Given the description of an element on the screen output the (x, y) to click on. 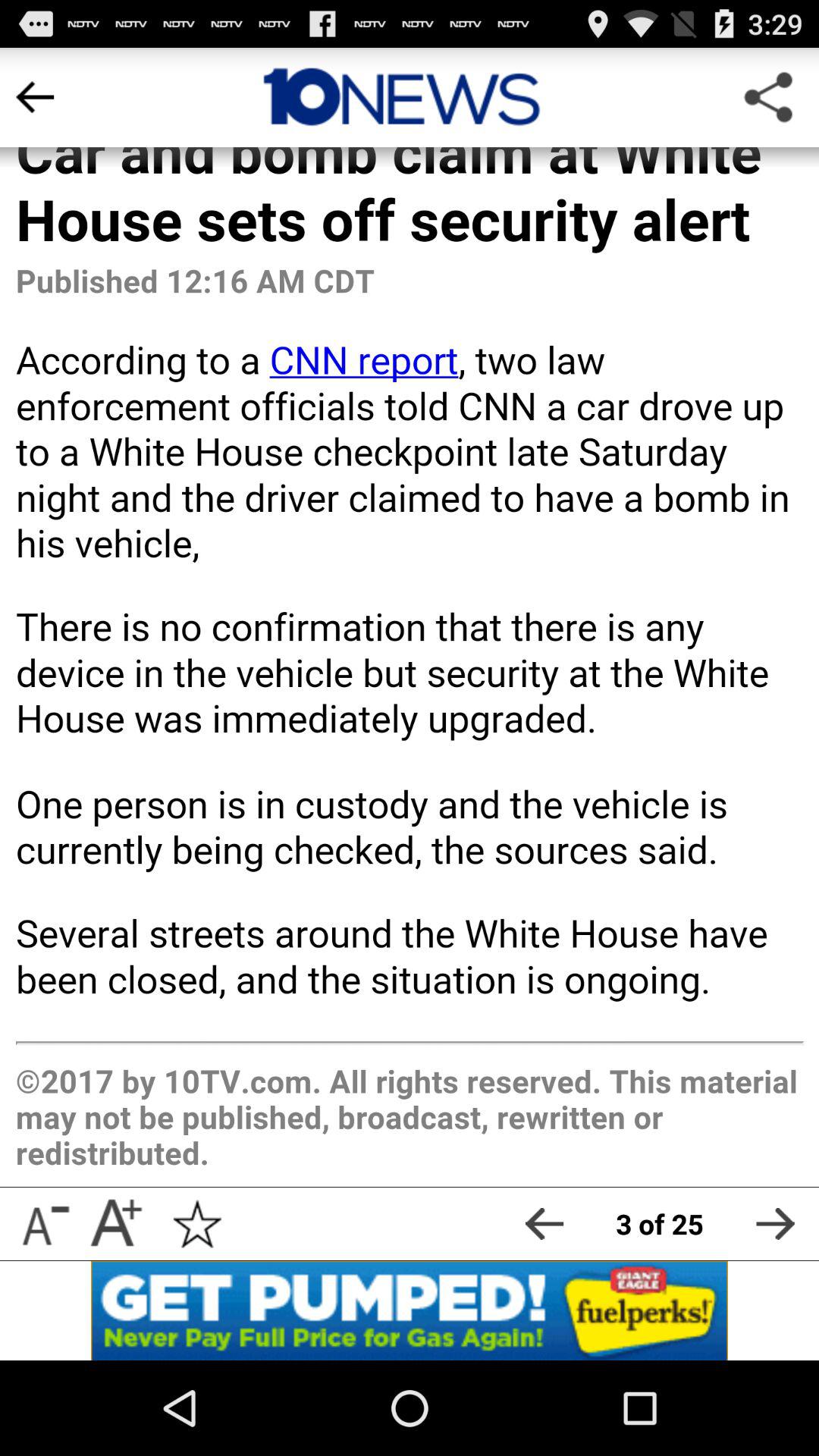
increase text size (115, 1223)
